Given the description of an element on the screen output the (x, y) to click on. 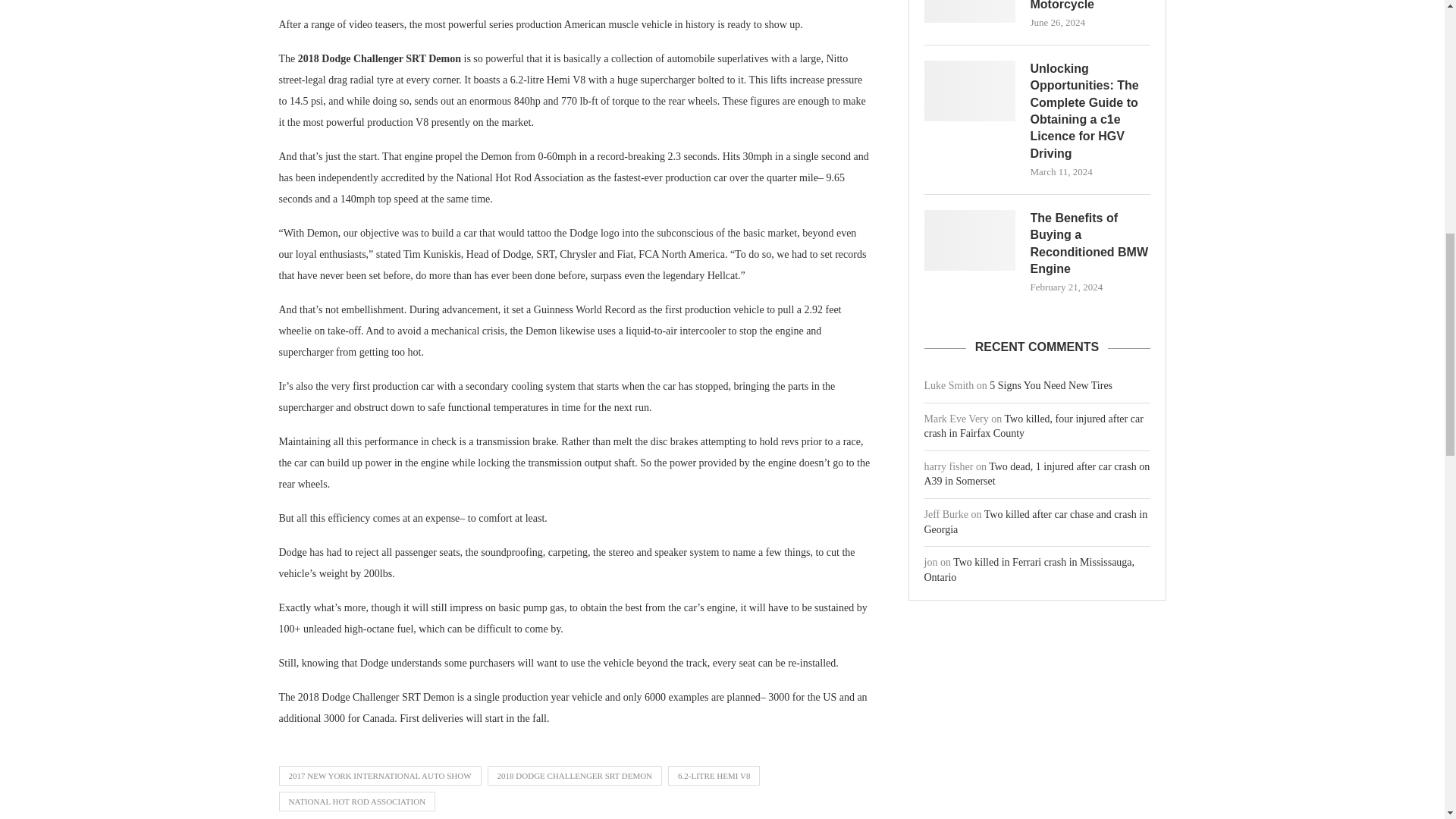
2018 DODGE CHALLENGER SRT DEMON (574, 775)
6.2-LITRE HEMI V8 (714, 775)
NATIONAL HOT ROD ASSOCIATION (357, 801)
2017 NEW YORK INTERNATIONAL AUTO SHOW (380, 775)
